Given the description of an element on the screen output the (x, y) to click on. 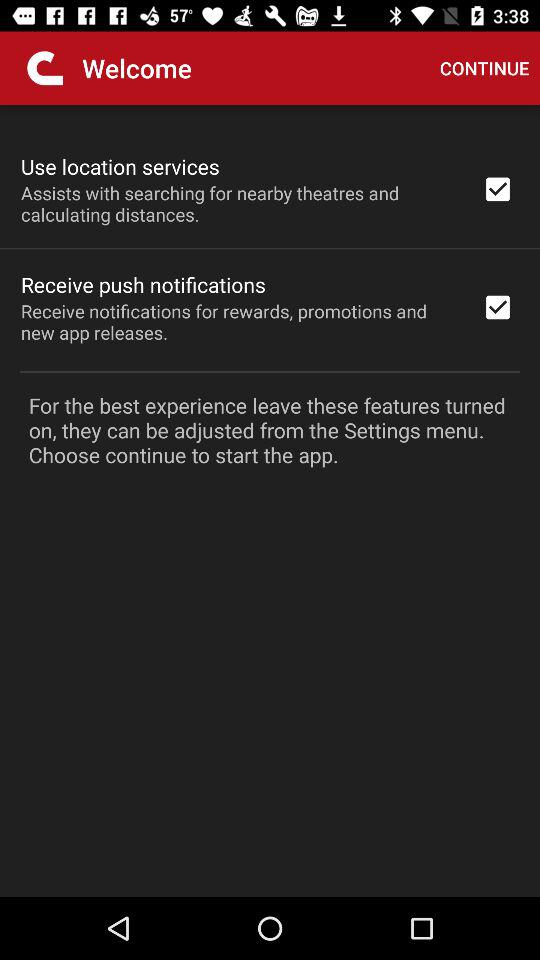
tap assists with searching item (238, 203)
